Given the description of an element on the screen output the (x, y) to click on. 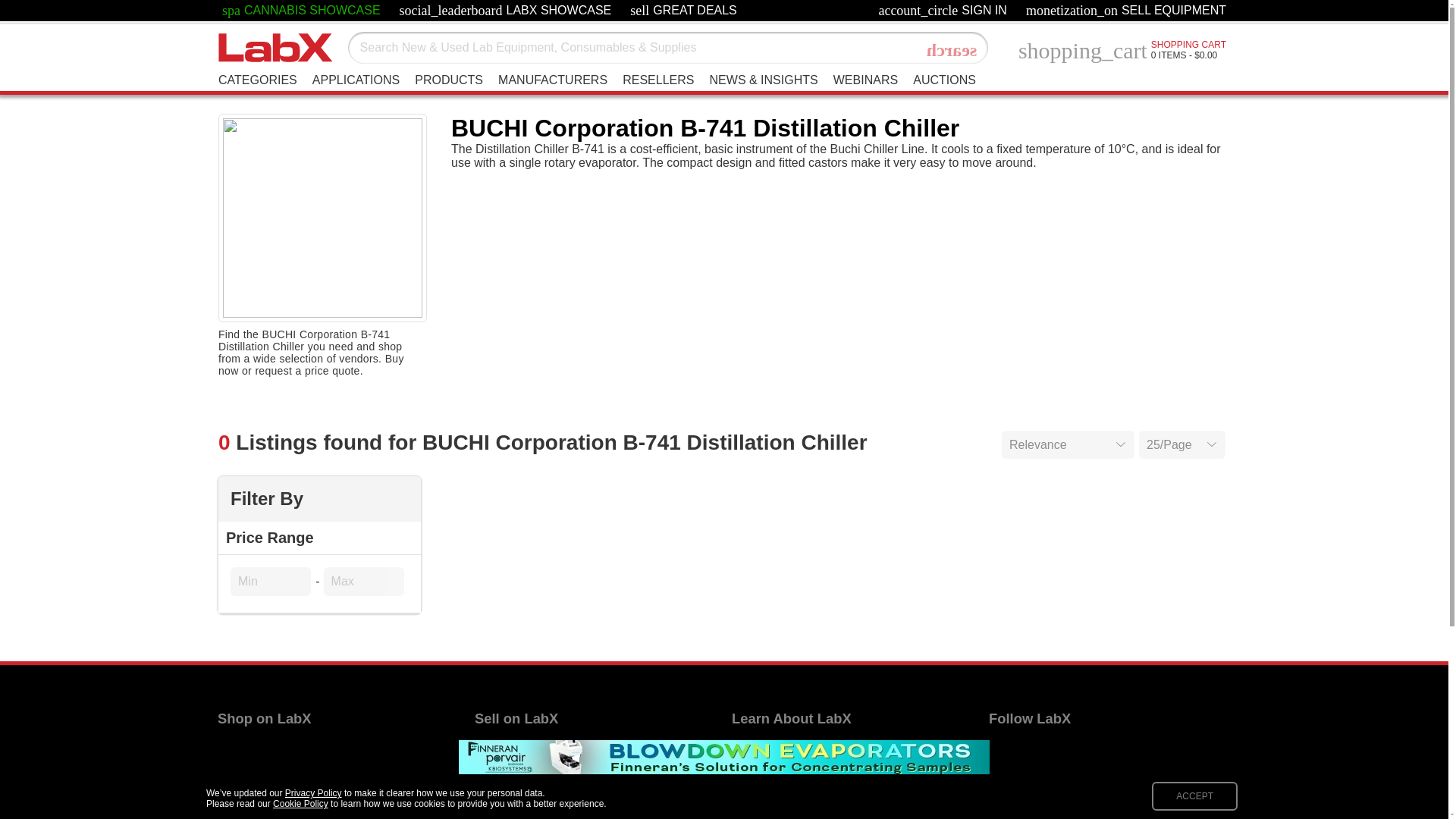
Help (744, 749)
APPLICATIONS (355, 80)
WEBINARS (865, 80)
RESELLERS (658, 80)
Advertise with LabX (527, 771)
Terms and Conditions (790, 792)
Shop by Application (270, 771)
search (683, 10)
CATEGORIES (951, 50)
Contact Us (257, 80)
PRODUCTS (762, 771)
AUCTIONS (448, 80)
Sell Your Equipment (943, 80)
Shop by Product (528, 749)
